Given the description of an element on the screen output the (x, y) to click on. 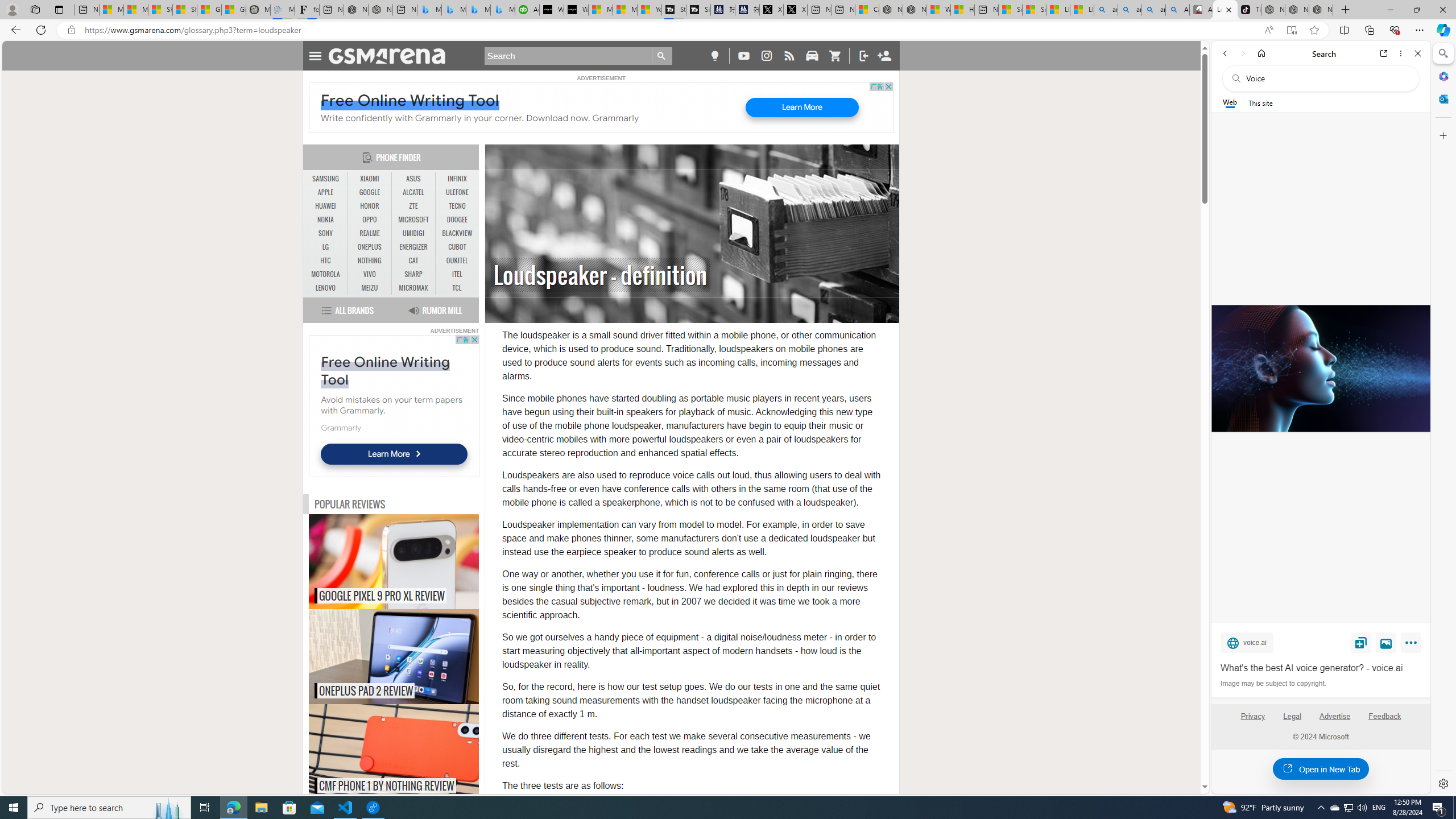
HUAWEI (325, 206)
HONOR (369, 206)
ONEPLUS (369, 246)
ALCATEL (413, 192)
